Given the description of an element on the screen output the (x, y) to click on. 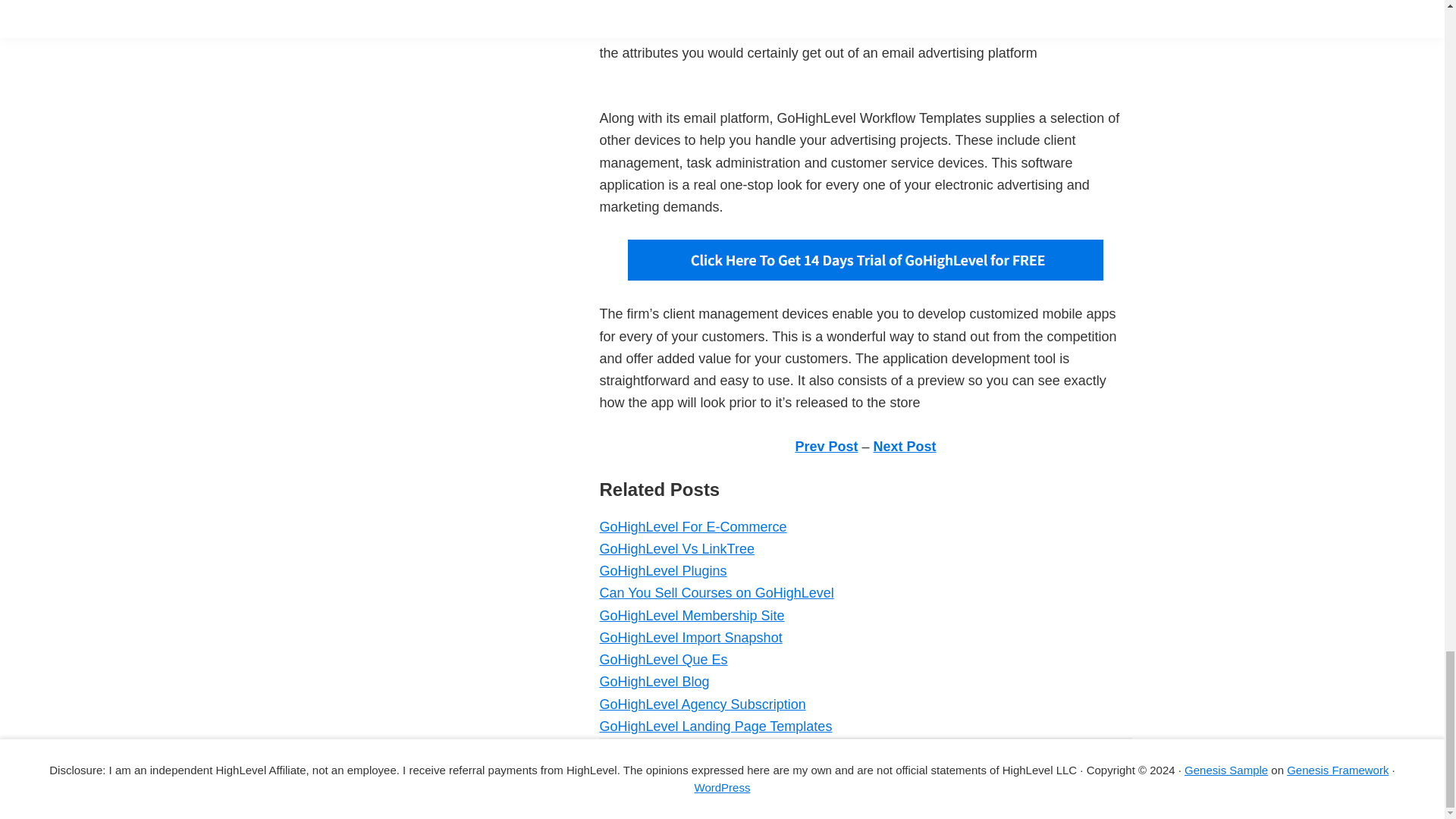
GoHighLevel Blog (653, 681)
GoHighLevel For E-Commerce (692, 526)
GoHighLevel Landing Page Templates (714, 726)
GoHighLevel Agency Subscription (701, 703)
GoHighLevel Membership Site (691, 615)
GoHighLevel Plugins (662, 570)
GoHighLevel Que Es (662, 659)
GoHighLevel Landing Page Templates (714, 726)
GoHighLevel Plugins (662, 570)
GoHighLevel Import Snapshot (689, 637)
